Given the description of an element on the screen output the (x, y) to click on. 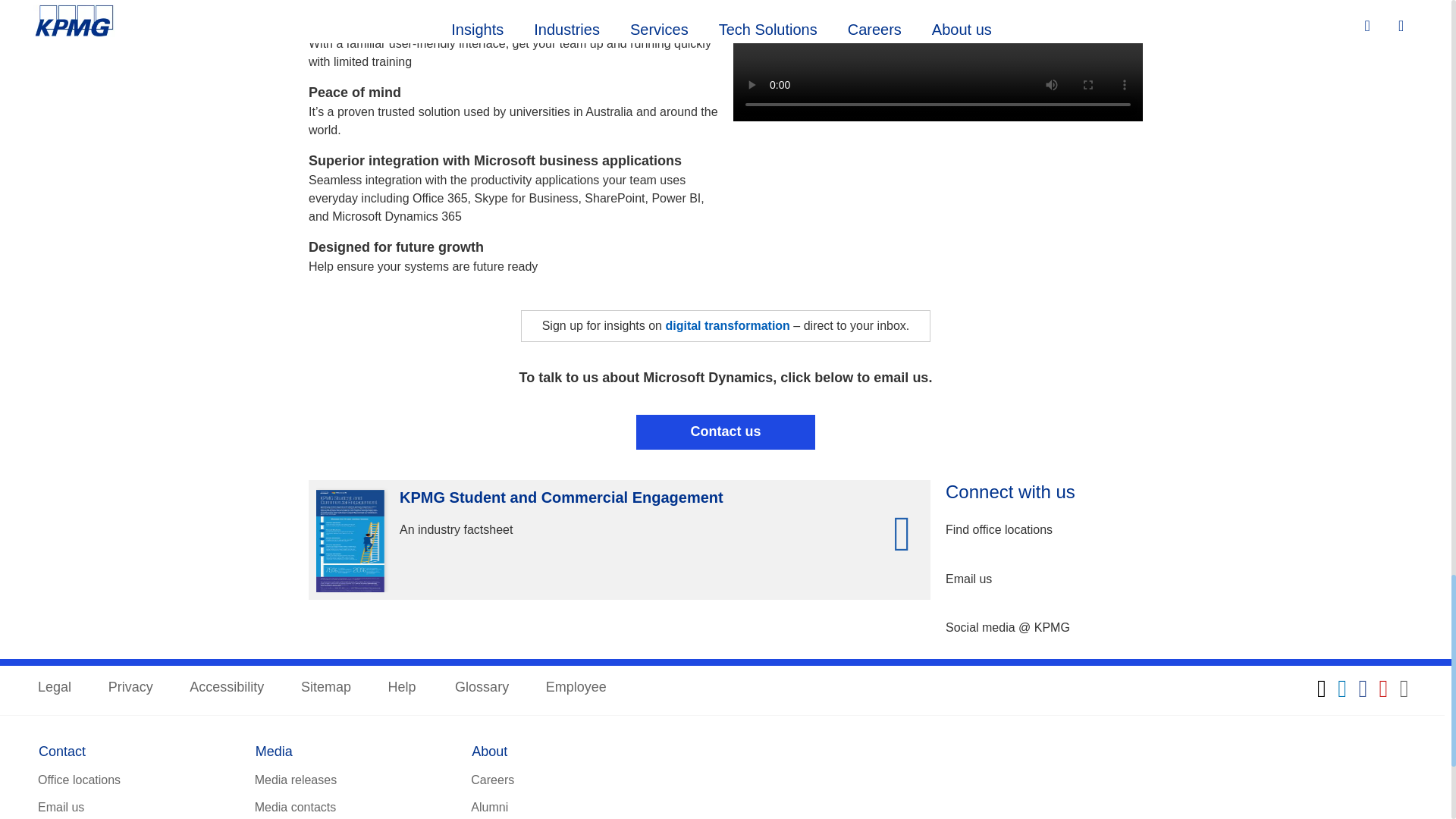
Glossary (481, 687)
Legal (54, 687)
digital transformation (727, 325)
Privacy (129, 687)
Accessibility (226, 687)
Contact us (725, 431)
Help (403, 687)
Sitemap (325, 687)
Email us (967, 579)
Find office locations (998, 530)
Contact us (725, 431)
